Given the description of an element on the screen output the (x, y) to click on. 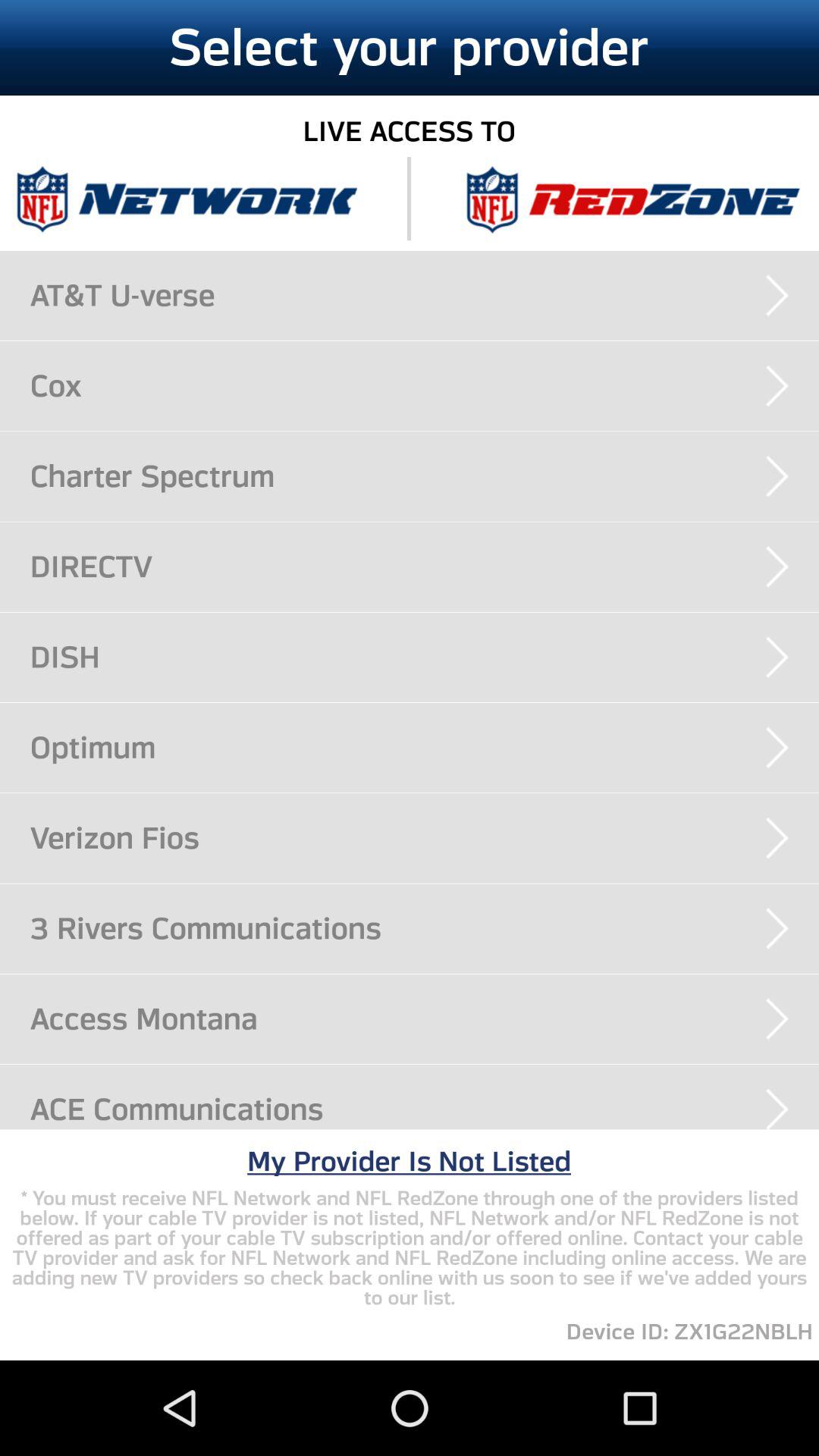
jump until the cox item (424, 385)
